Given the description of an element on the screen output the (x, y) to click on. 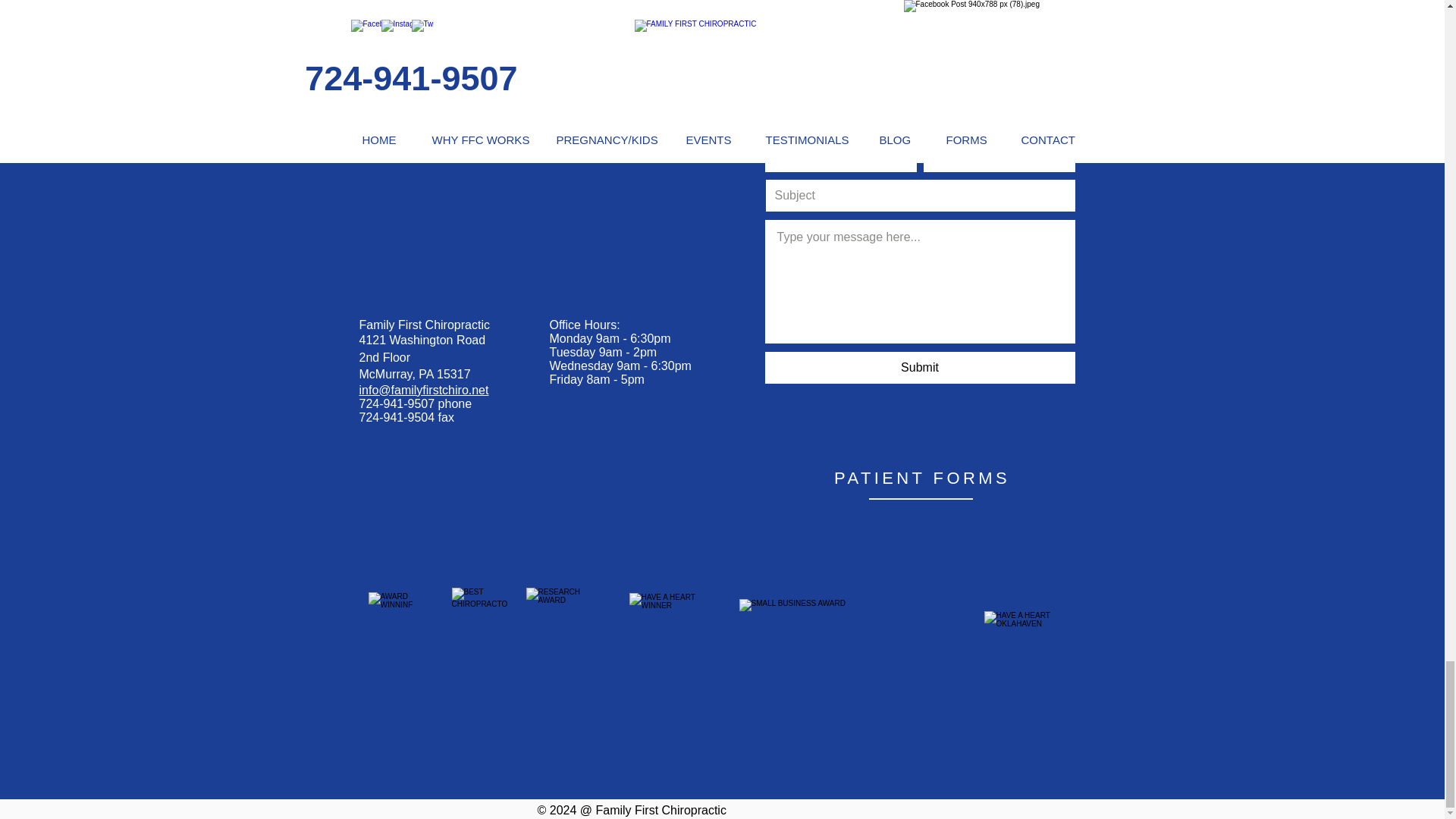
small business award.jpg (850, 626)
Submit (919, 368)
McMurray, PA 15317 (414, 373)
2nd Floor (384, 357)
4121 Washington Road (422, 339)
AUS.jpg (565, 625)
724-941-9507 phone (415, 403)
